Given the description of an element on the screen output the (x, y) to click on. 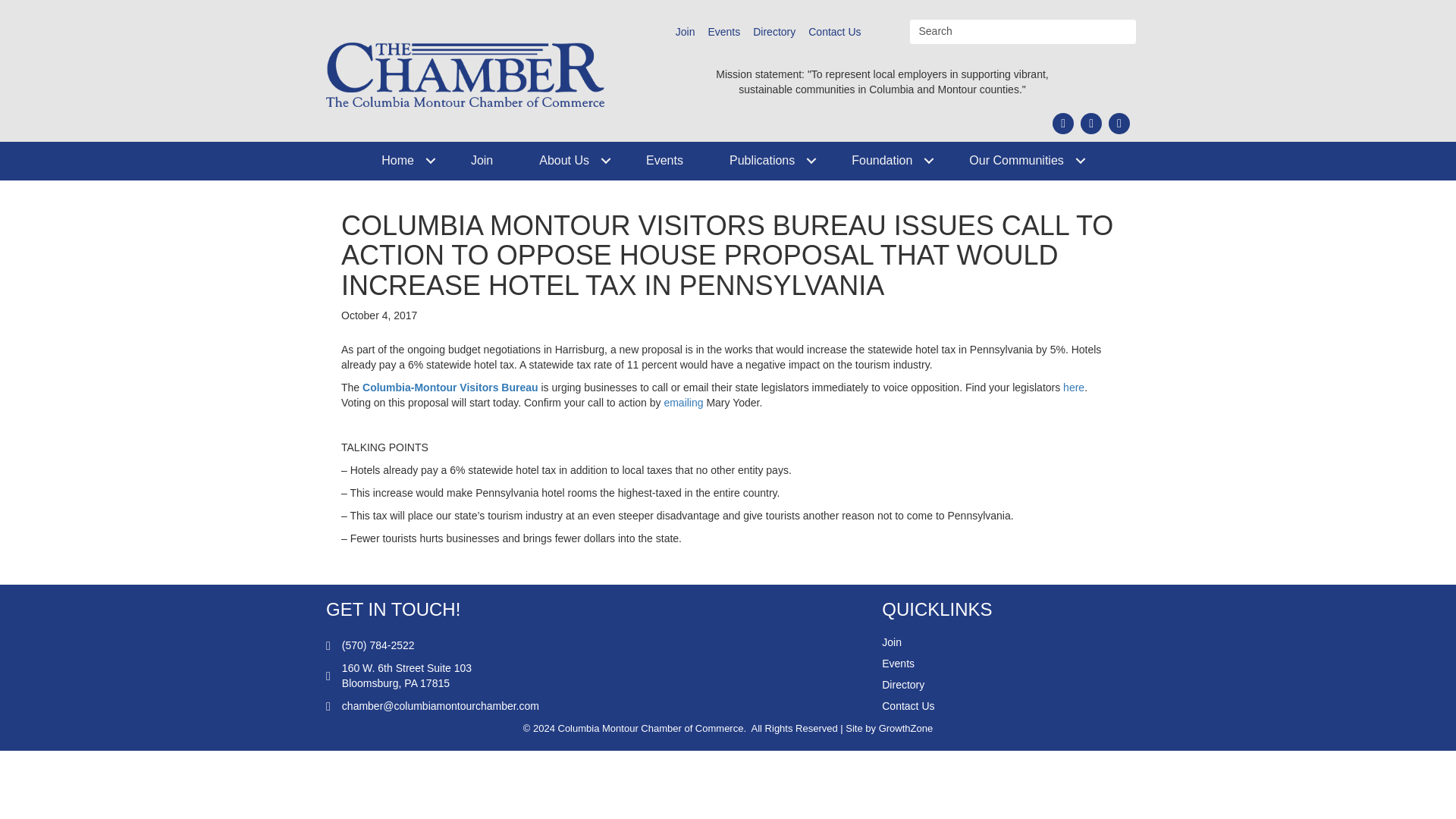
Contact Us (834, 32)
About Us (569, 160)
Publications (767, 160)
Home (402, 160)
Foundation (886, 160)
Directory (774, 32)
Events (664, 160)
Our Communities (1021, 160)
Join (685, 32)
Events (723, 32)
Join (481, 160)
